Given the description of an element on the screen output the (x, y) to click on. 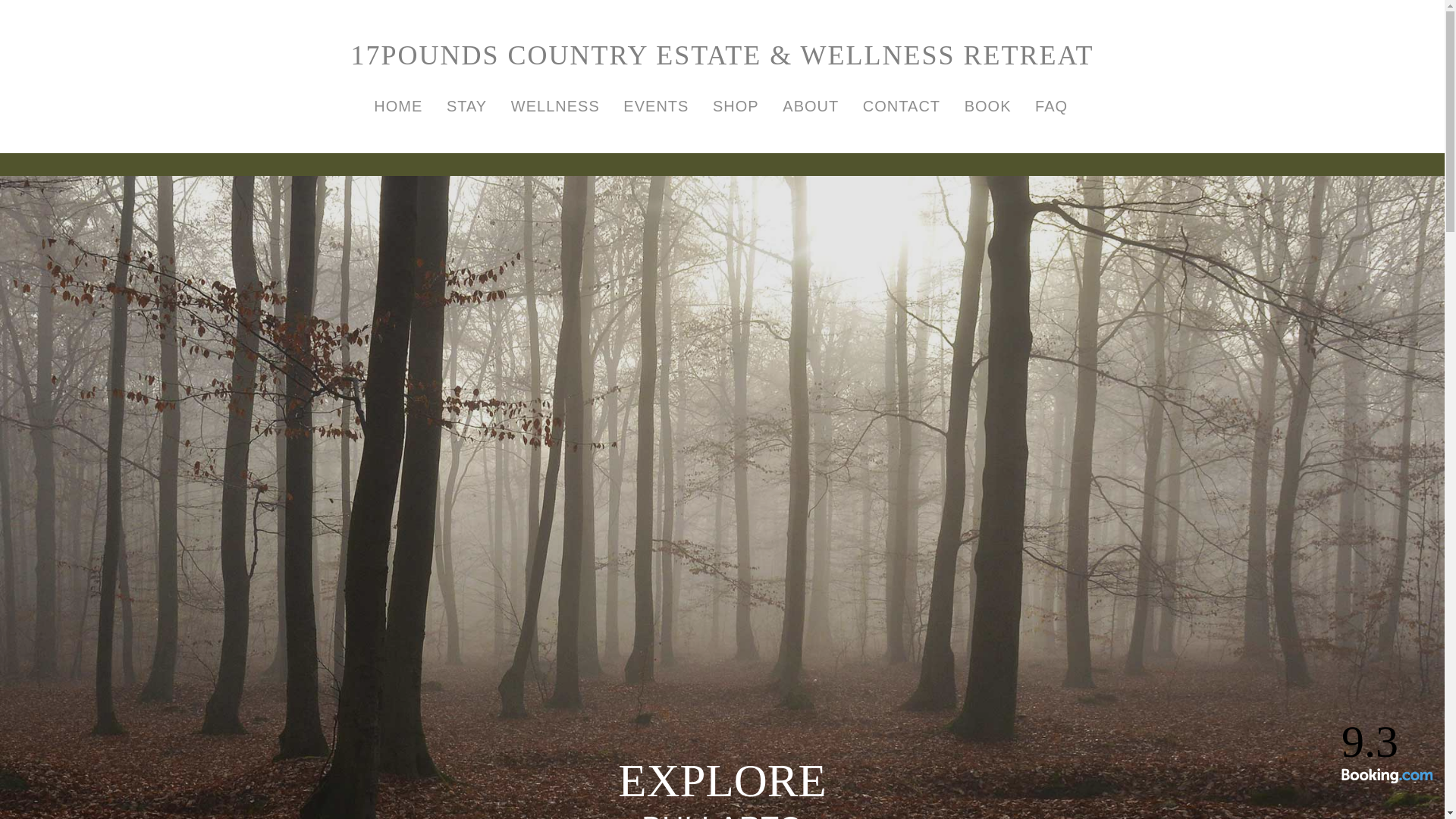
BOOK (987, 106)
CONTACT (900, 106)
SHOP (735, 106)
EVENTS (655, 106)
FAQ (1051, 106)
HOME (397, 106)
STAY (466, 106)
ABOUT (809, 106)
WELLNESS (555, 106)
